Given the description of an element on the screen output the (x, y) to click on. 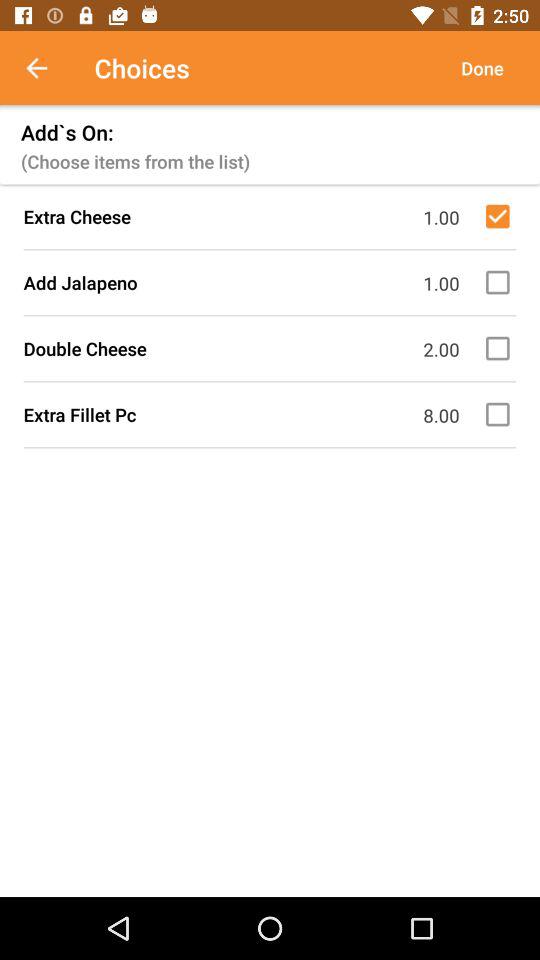
select item (501, 216)
